Given the description of an element on the screen output the (x, y) to click on. 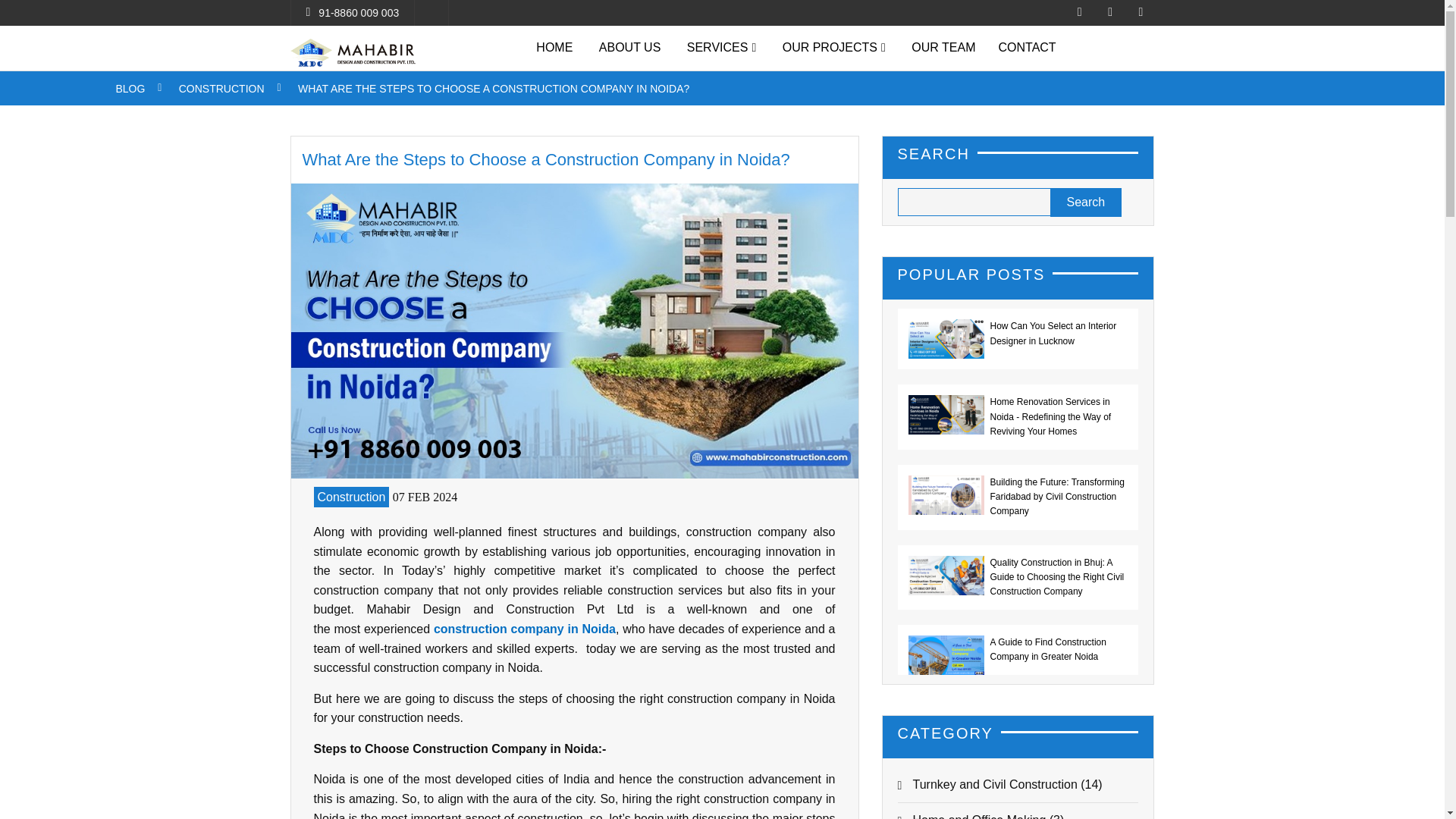
OUR PROJECTS (833, 47)
91-8860 009 003 (358, 12)
HOME (553, 47)
ABOUT US (630, 47)
Construction (352, 496)
BLOG (129, 88)
SERVICES (721, 47)
CONSTRUCTION (221, 88)
construction company in Noida (524, 628)
Search (1085, 202)
CONTACT (1027, 47)
OUR TEAM (943, 47)
07 FEB 2024 (425, 496)
